Given the description of an element on the screen output the (x, y) to click on. 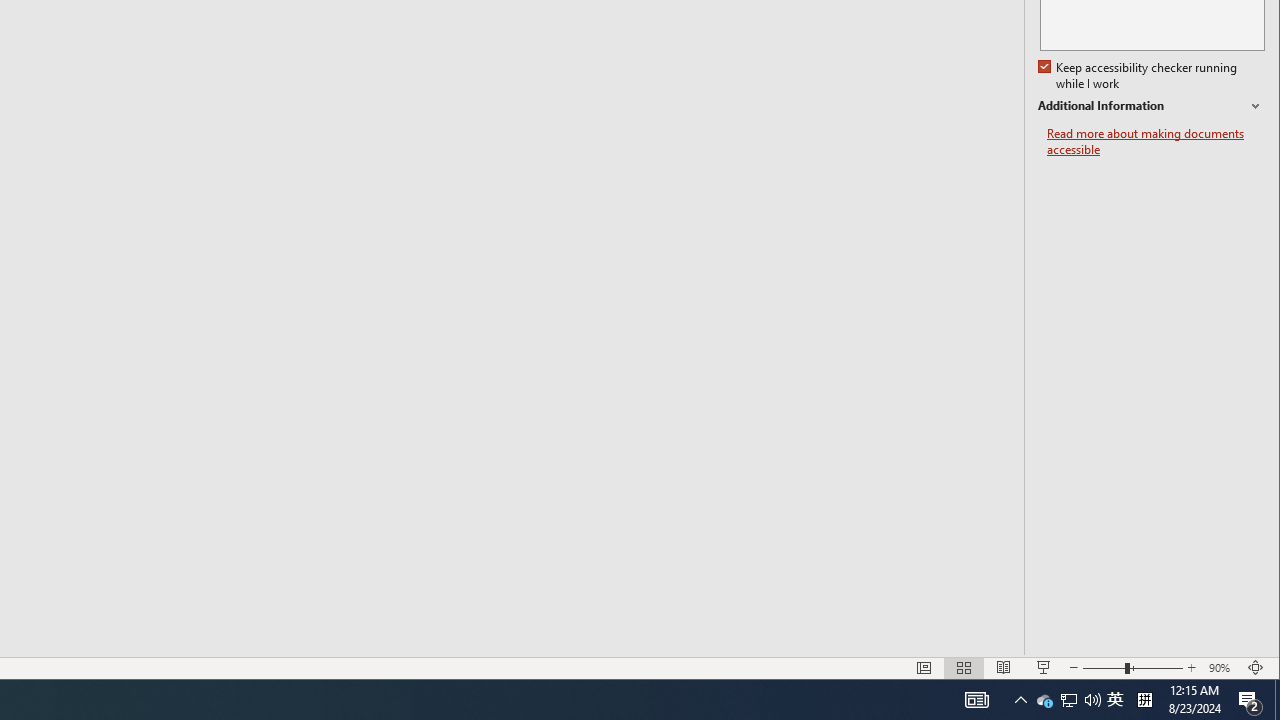
Zoom 90% (1222, 668)
